Given the description of an element on the screen output the (x, y) to click on. 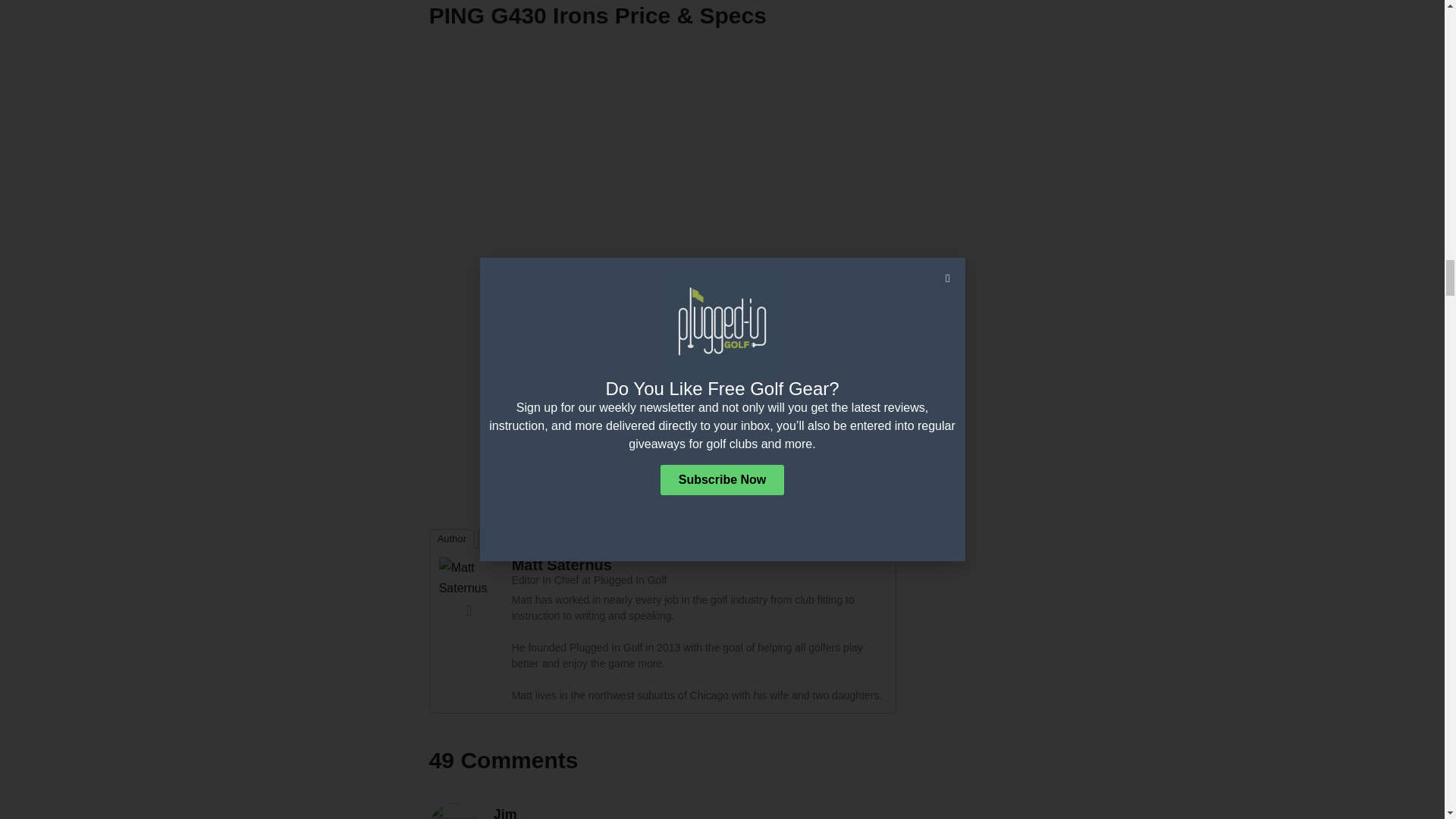
Matt Saternus (469, 576)
Twitter (469, 610)
